Given the description of an element on the screen output the (x, y) to click on. 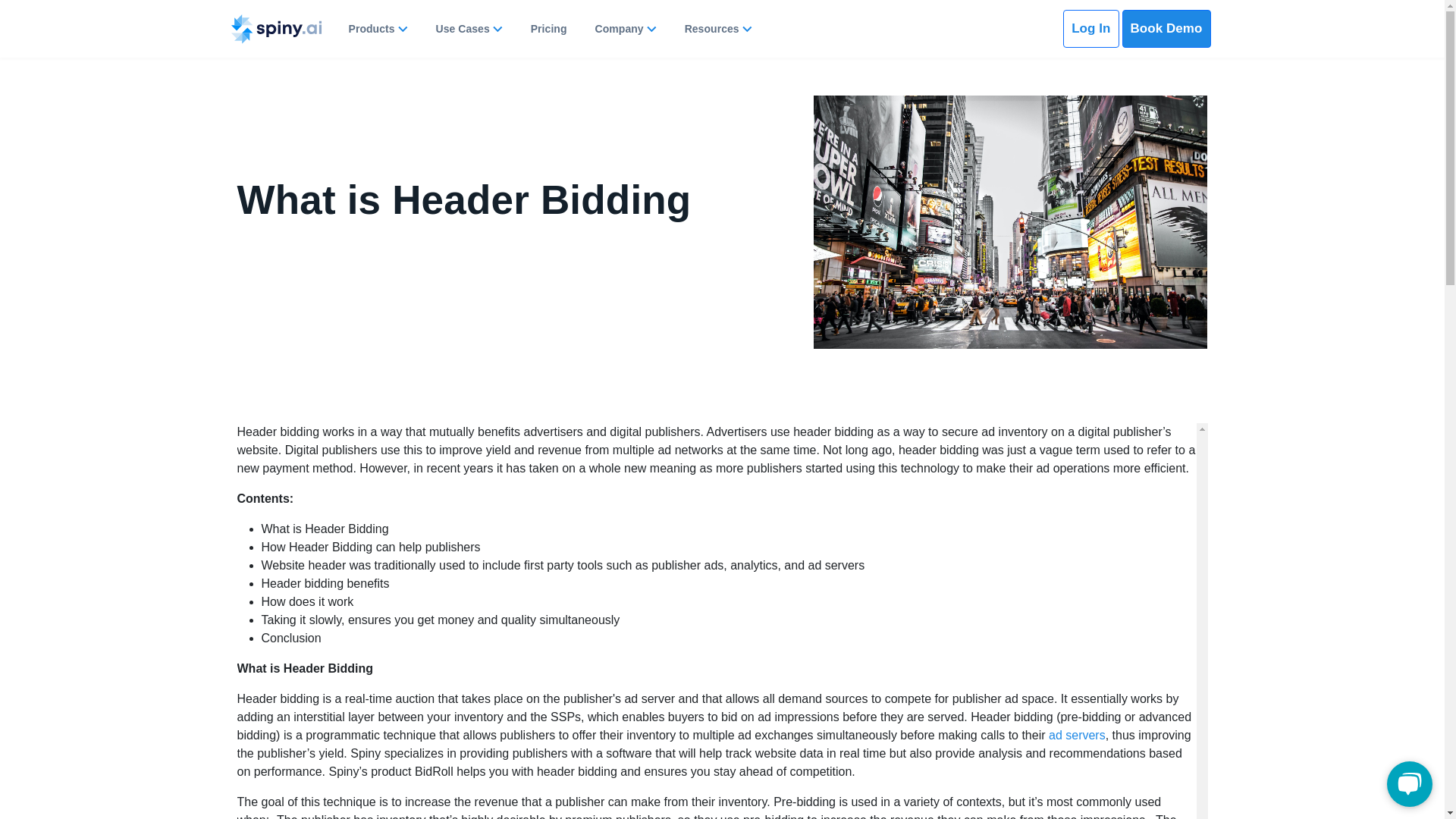
Book Demo (1166, 28)
Log In (1090, 28)
Pricing (549, 28)
